Given the description of an element on the screen output the (x, y) to click on. 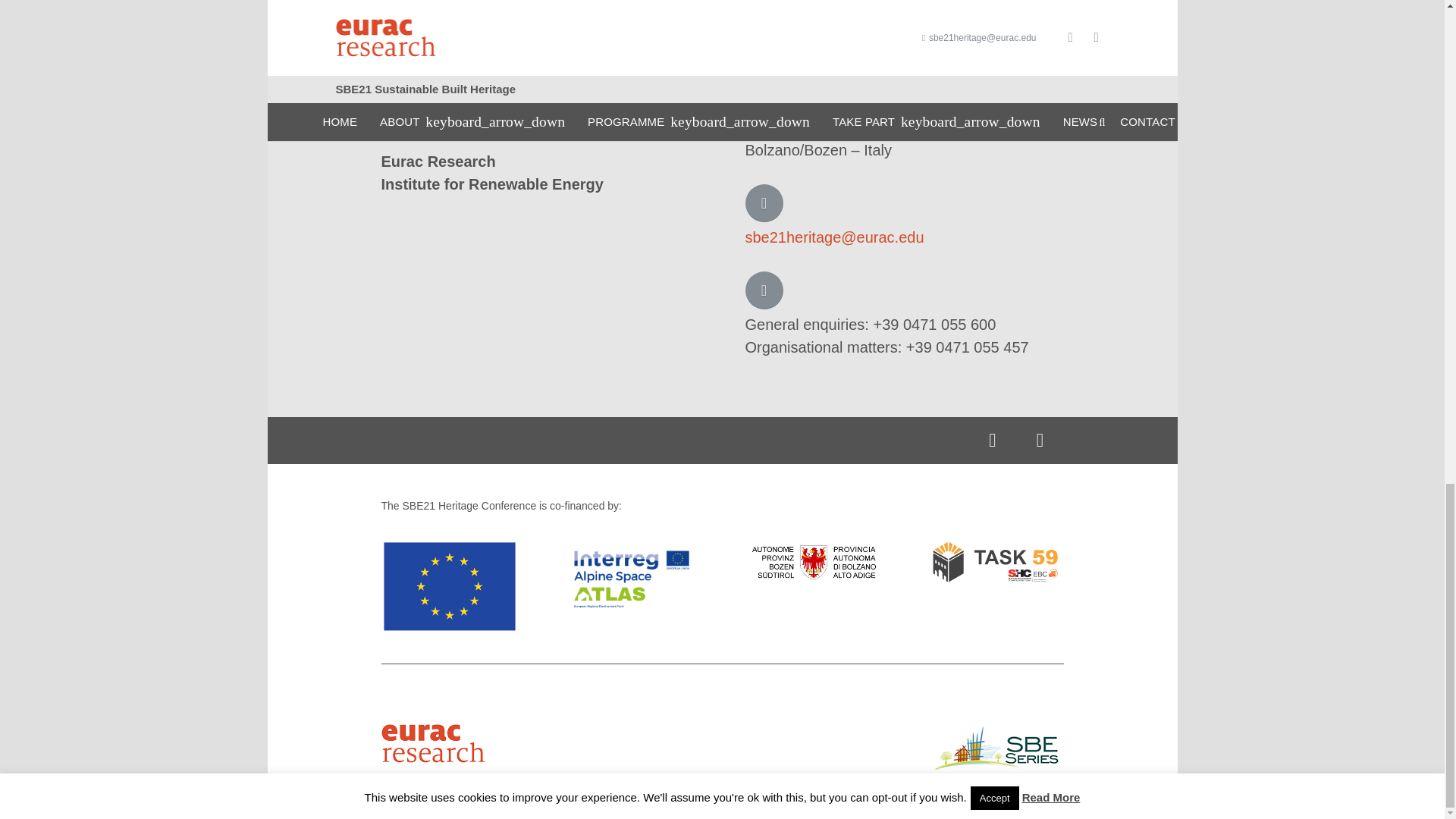
Impressum (659, 807)
LinkedIn (992, 440)
Twitter (1040, 440)
